Given the description of an element on the screen output the (x, y) to click on. 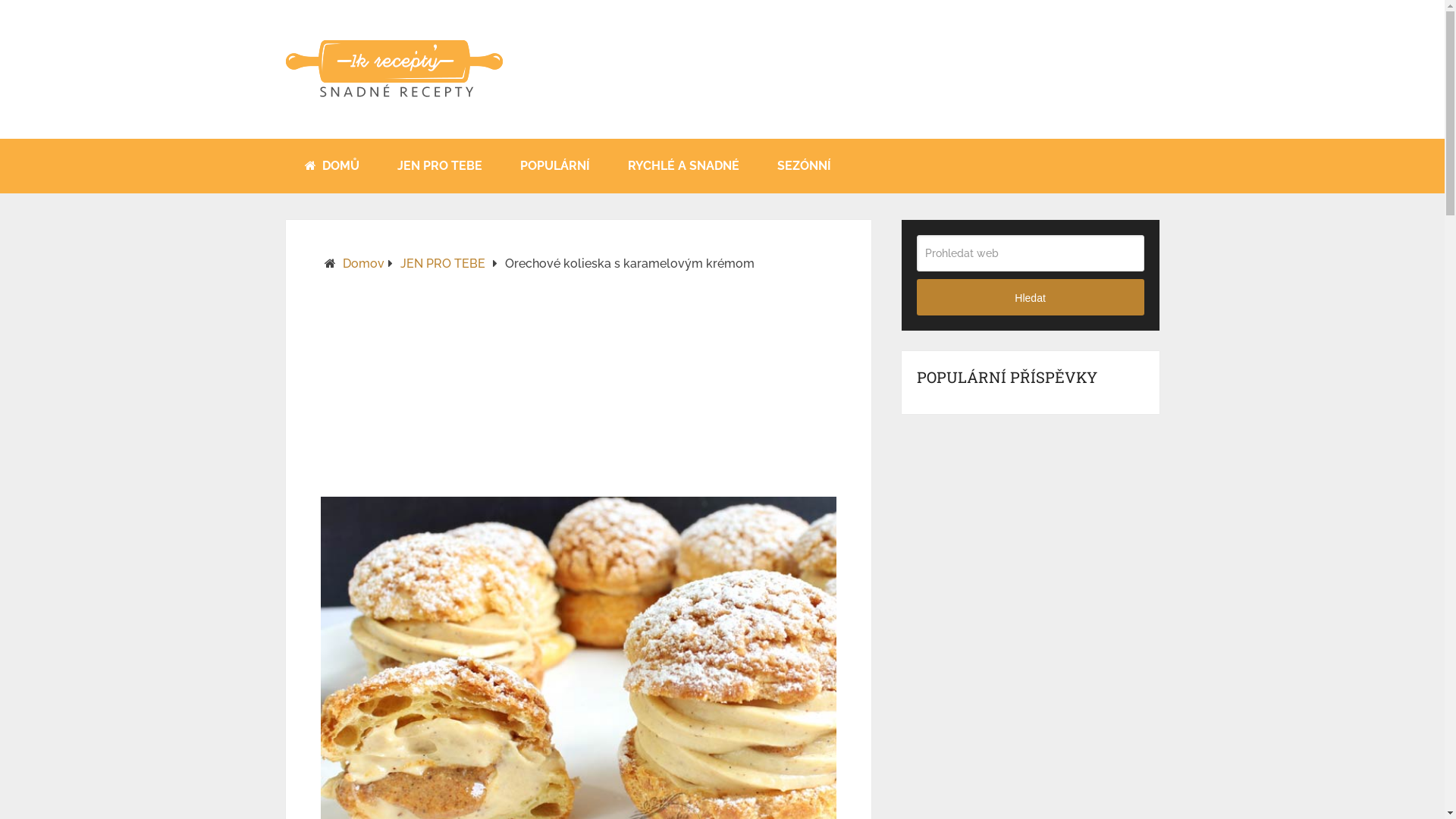
JEN PRO TEBE Element type: text (442, 263)
Domov Element type: text (363, 263)
JEN PRO TEBE Element type: text (438, 165)
Hledat Element type: text (1030, 297)
Advertisement Element type: hover (577, 390)
